Given the description of an element on the screen output the (x, y) to click on. 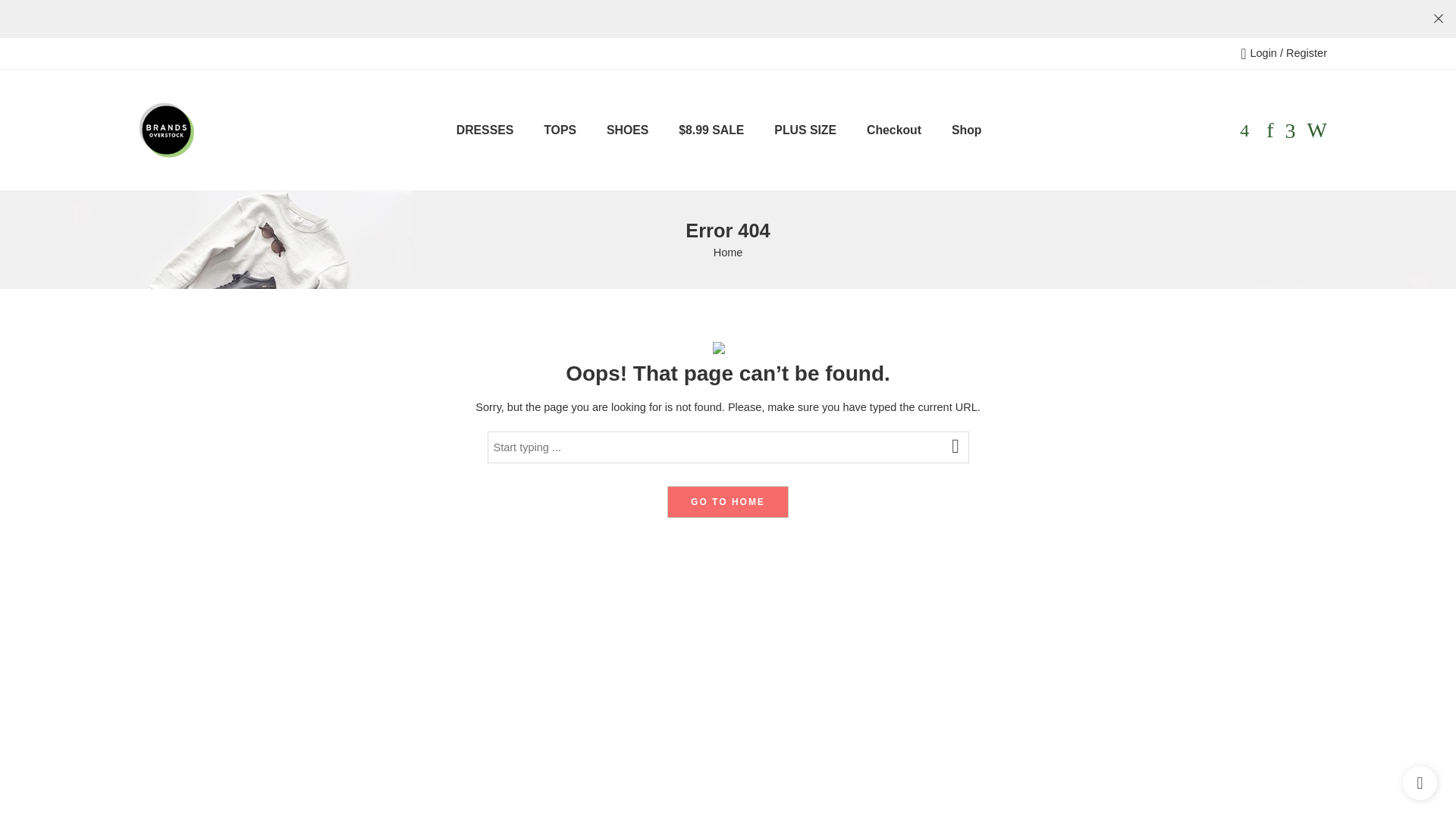
Home (727, 252)
GO TO HOME (727, 501)
Home (727, 252)
DRESSES (485, 129)
Checkout (893, 129)
DRESSES (485, 129)
PLUS SIZE (804, 129)
Brands Overstock - The Designer Outlet  (166, 129)
SHOES (627, 129)
Search (1316, 129)
Cart (1244, 129)
Close (1438, 18)
SHOES (627, 129)
Checkout (893, 129)
PLUS SIZE (804, 129)
